Given the description of an element on the screen output the (x, y) to click on. 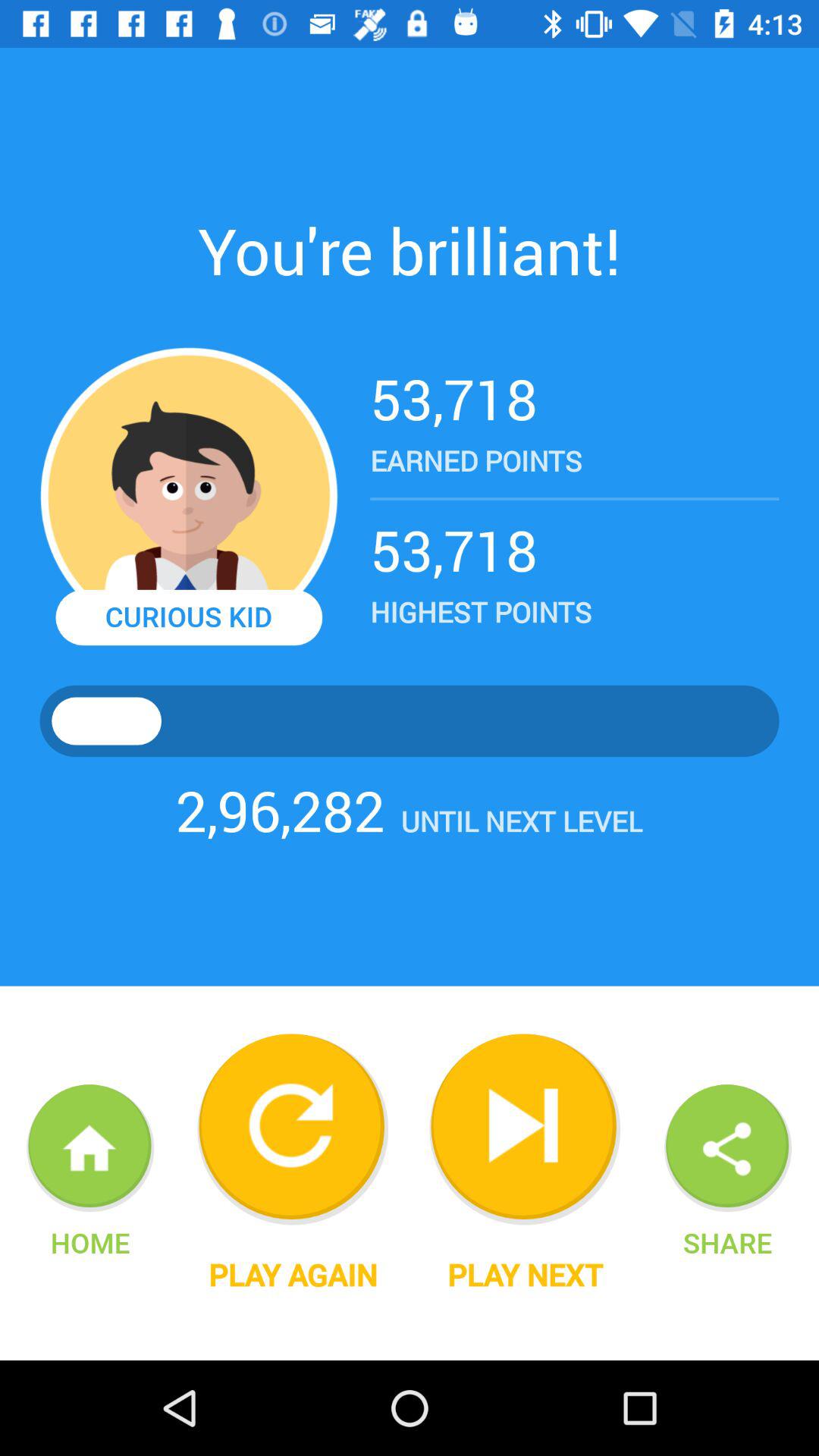
share the article (727, 1148)
